Given the description of an element on the screen output the (x, y) to click on. 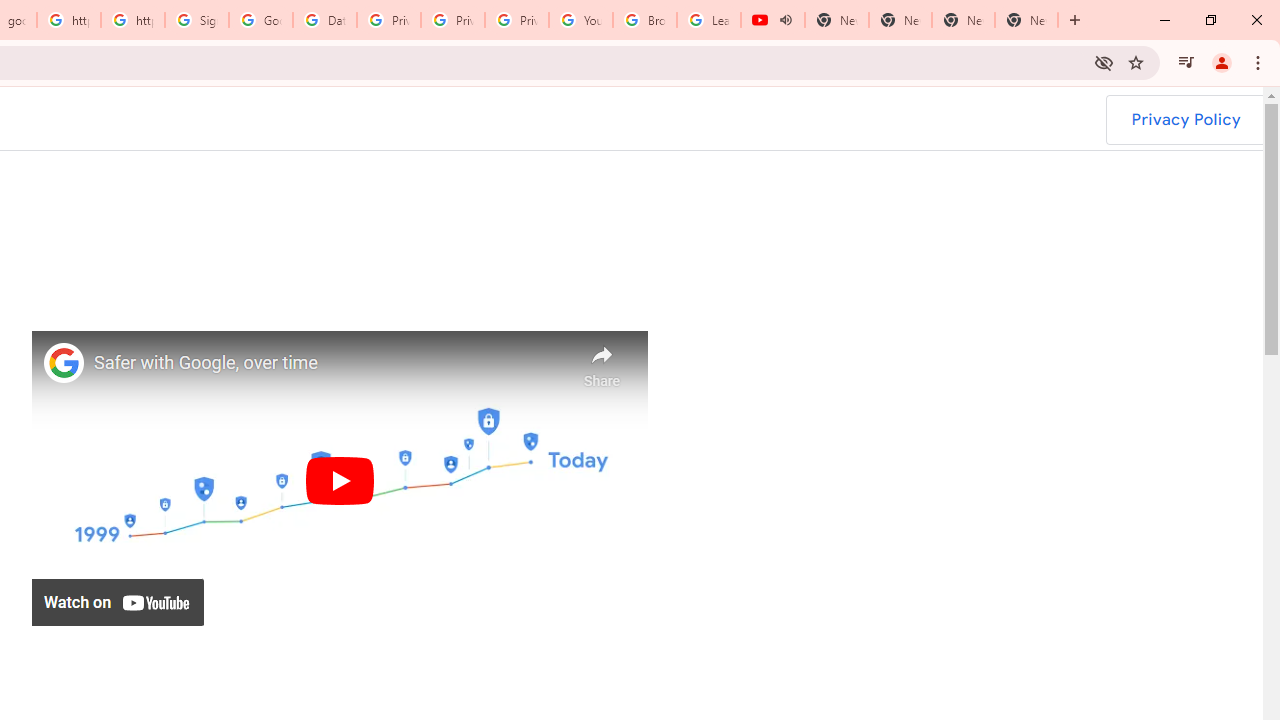
Watch on YouTube (118, 601)
https://scholar.google.com/ (69, 20)
https://scholar.google.com/ (133, 20)
New Tab (1026, 20)
Play (339, 480)
Photo image of Google (63, 362)
Browse Chrome as a guest - Computer - Google Chrome Help (645, 20)
